Given the description of an element on the screen output the (x, y) to click on. 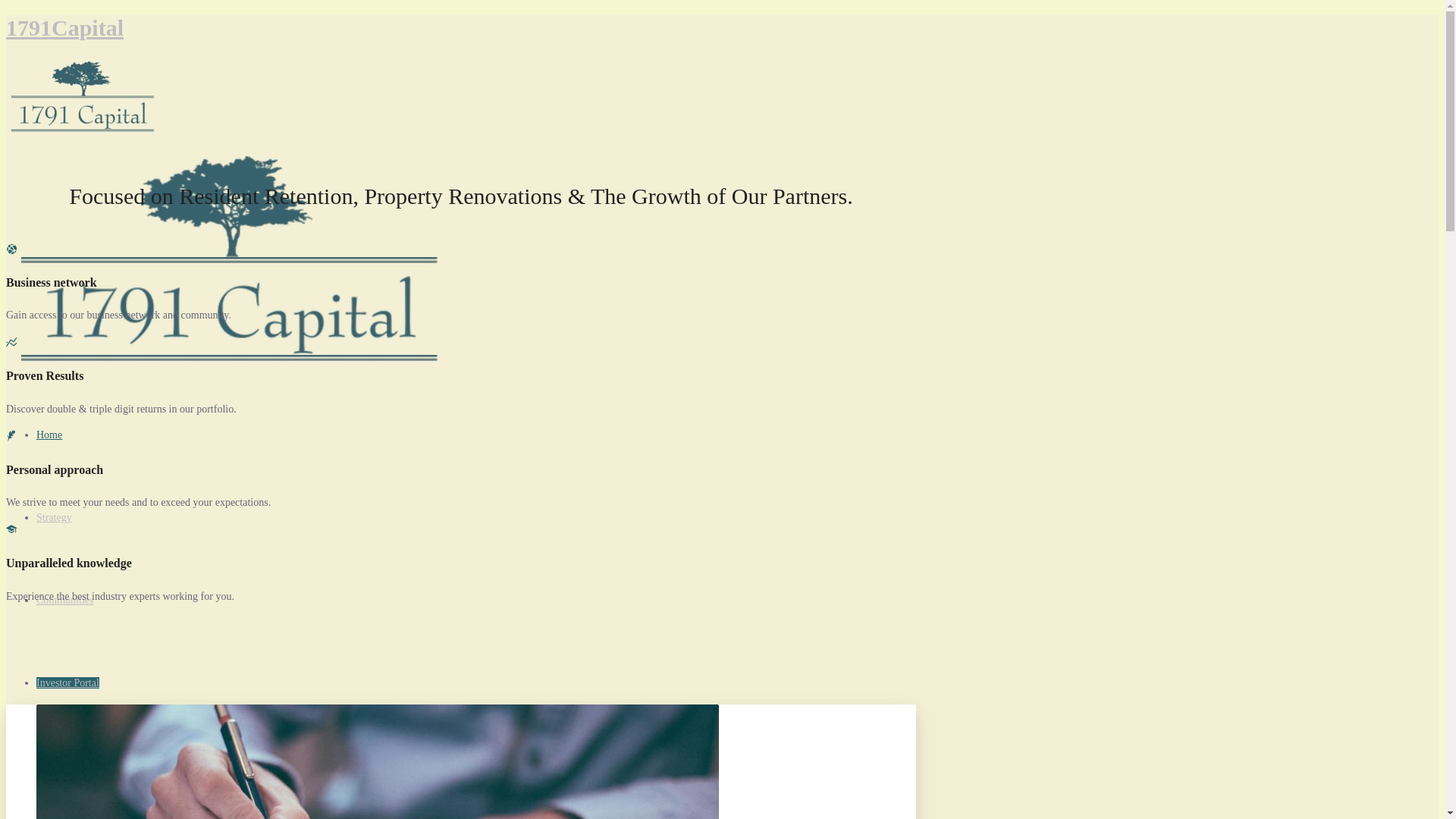
Home Element type: text (49, 434)
Investor Portal Element type: text (67, 682)
Communities Element type: text (64, 599)
1791Capital Element type: text (64, 27)
Strategy Element type: text (54, 517)
